Given the description of an element on the screen output the (x, y) to click on. 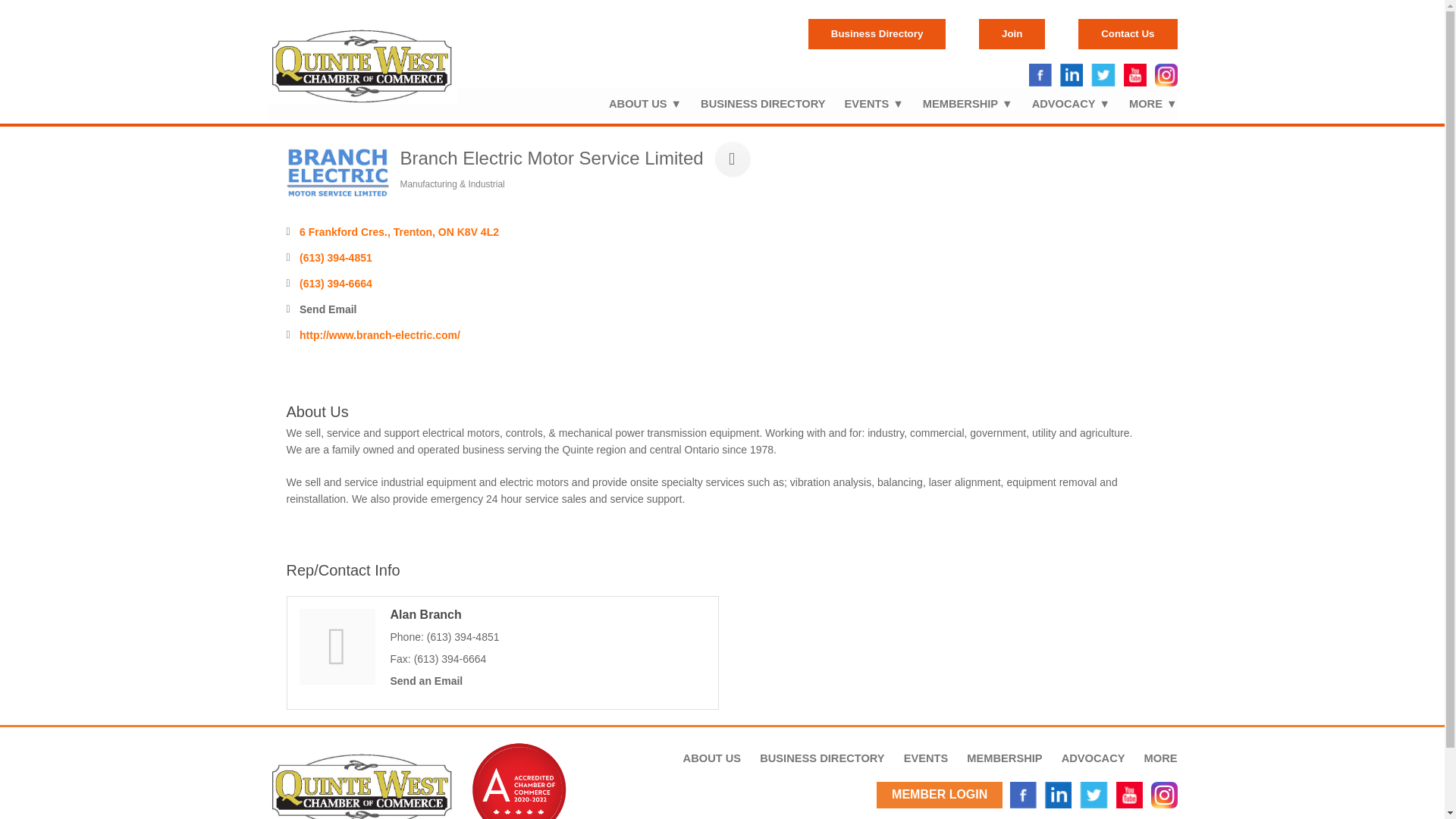
BUSINESS DIRECTORY (753, 104)
Branch Electric Motor Service Limited (337, 172)
ABOUT US (635, 104)
MEMBERSHIP (958, 104)
Business Directory (876, 33)
Contact Us (1127, 33)
Join (1011, 33)
EVENTS (864, 104)
